Given the description of an element on the screen output the (x, y) to click on. 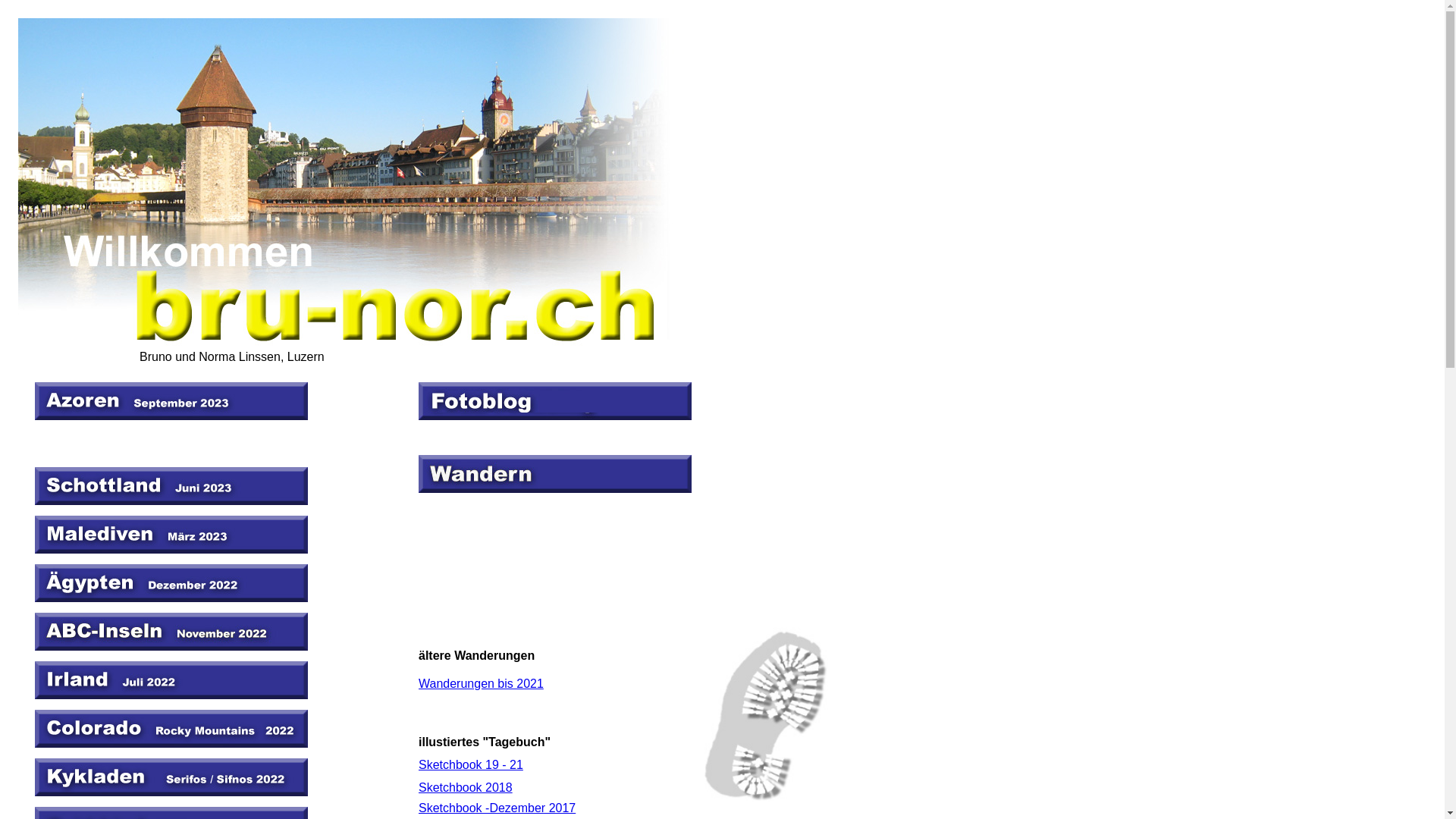
Sketchbook 2018 Element type: text (465, 787)
Sketchbook 19 - 21 Element type: text (470, 764)
Wanderungen bis 2021 Element type: text (480, 683)
Sketchbook -Dezember 2017 Element type: text (496, 807)
